Given the description of an element on the screen output the (x, y) to click on. 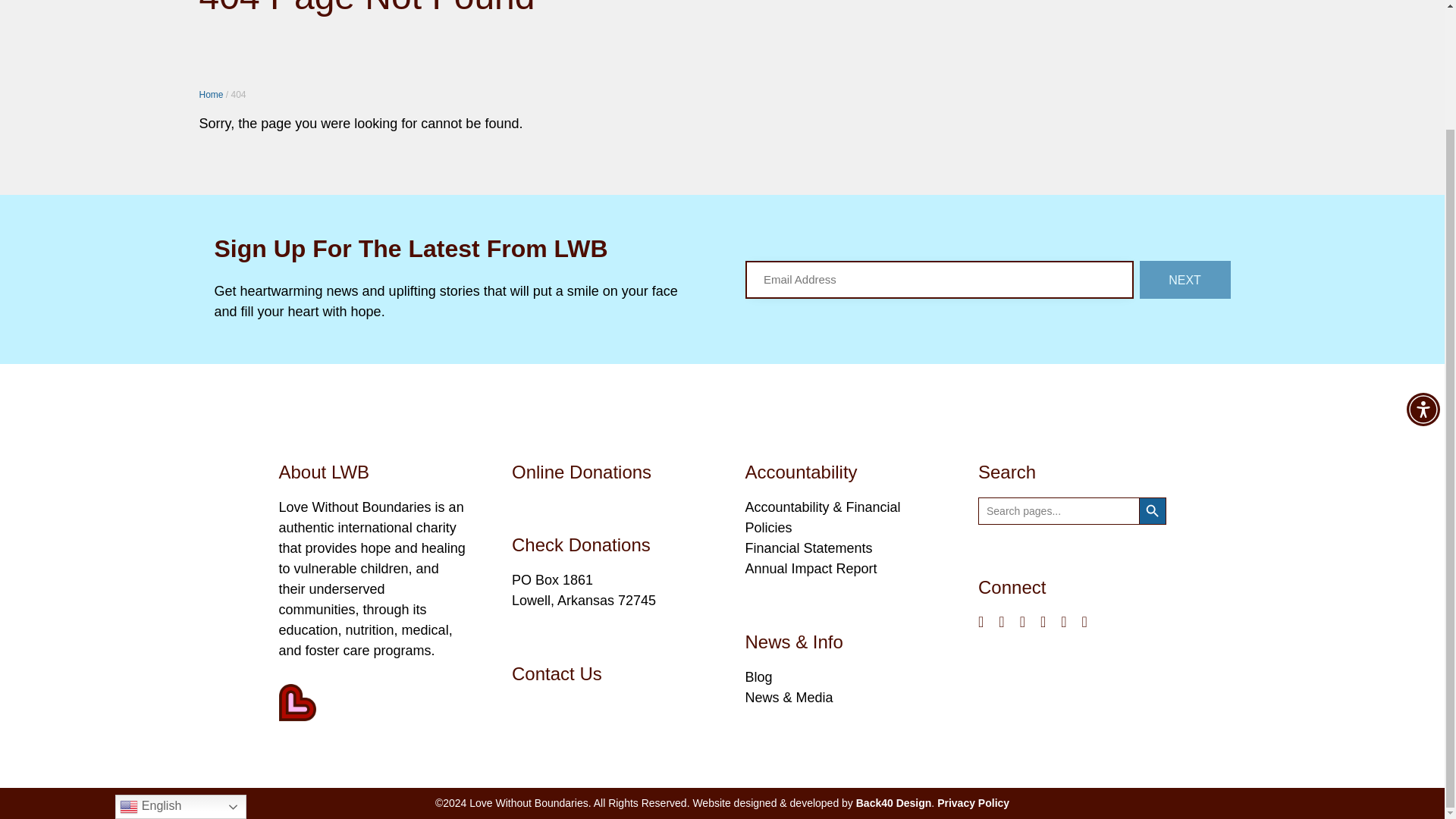
Home (210, 94)
Contact Us (557, 673)
Financial Statements (808, 548)
NEXT (1184, 279)
Privacy Policy (973, 802)
Blog (757, 676)
Annual Impact Report (810, 568)
Back40 Design (893, 802)
Search Button (1152, 510)
Online Donations (581, 471)
Accessibility Menu (1422, 265)
